Given the description of an element on the screen output the (x, y) to click on. 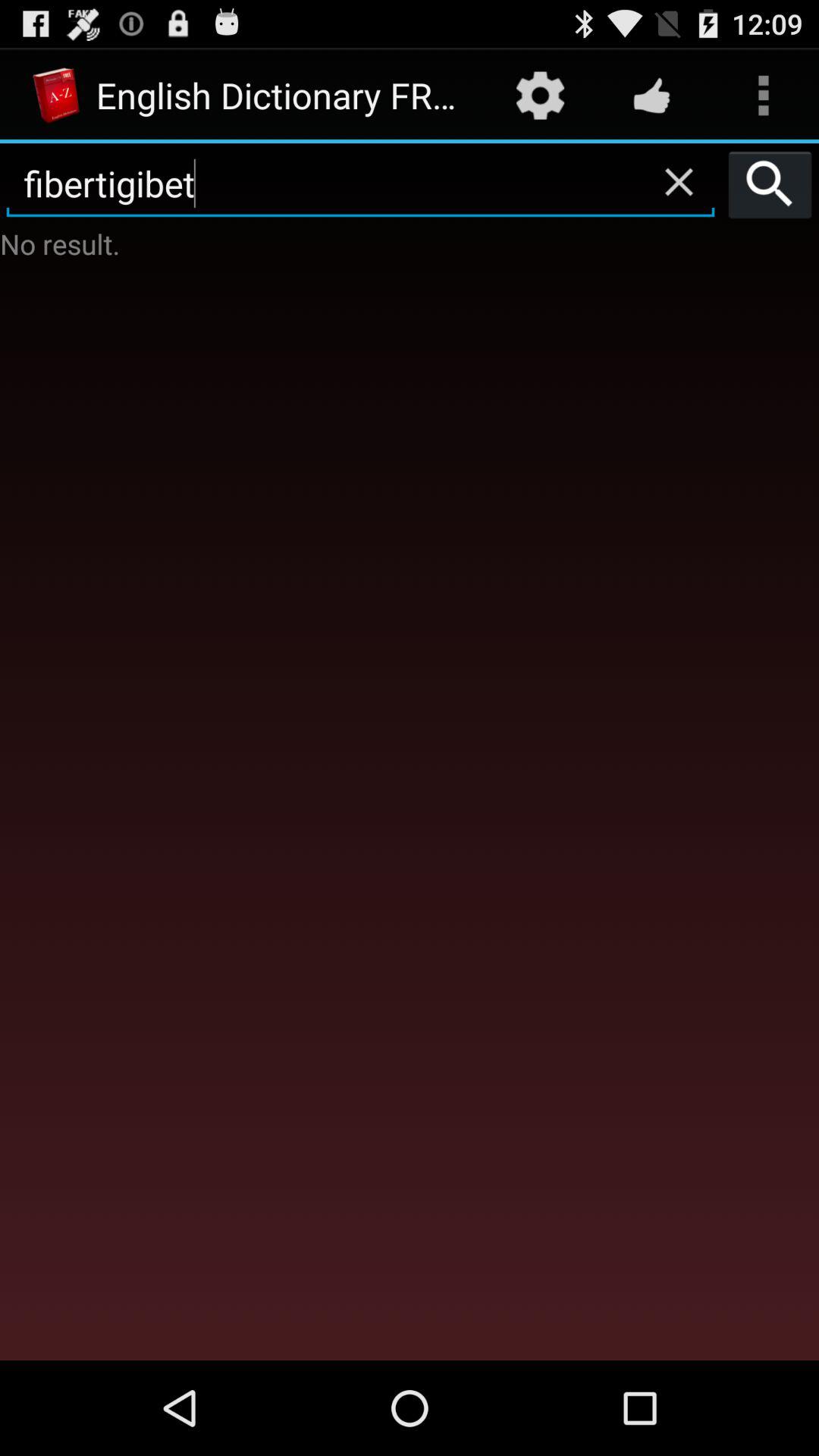
press fibertigibet (360, 184)
